Given the description of an element on the screen output the (x, y) to click on. 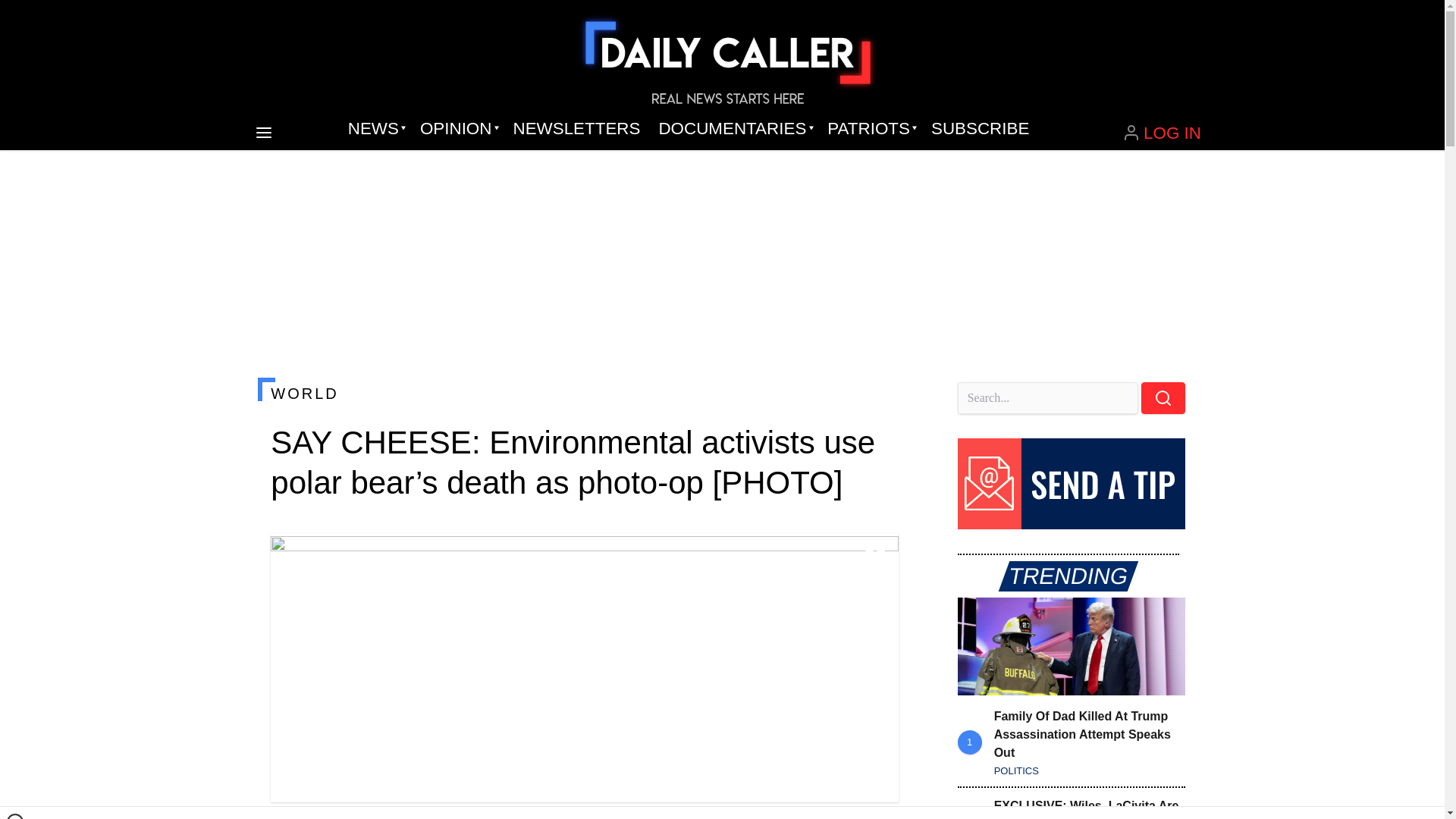
NEWSLETTERS (576, 128)
OPINION (456, 128)
Close window (14, 816)
WORLD (584, 393)
SUBSCRIBE (979, 128)
NEWS (374, 128)
DOCUMENTARIES (733, 128)
Toggle fullscreen (874, 556)
PATRIOTS (869, 128)
